Given the description of an element on the screen output the (x, y) to click on. 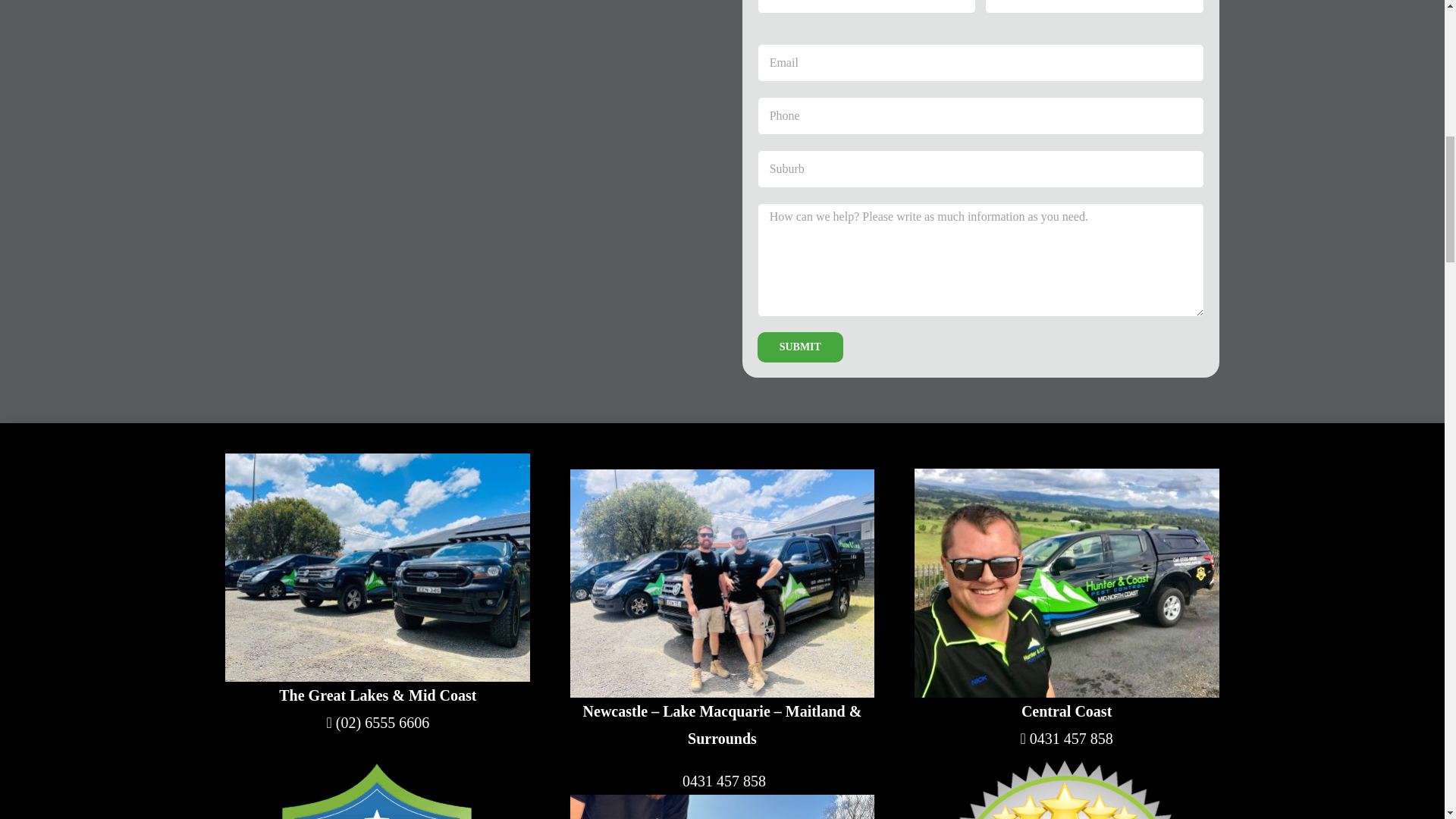
SUBMIT (800, 347)
